Given the description of an element on the screen output the (x, y) to click on. 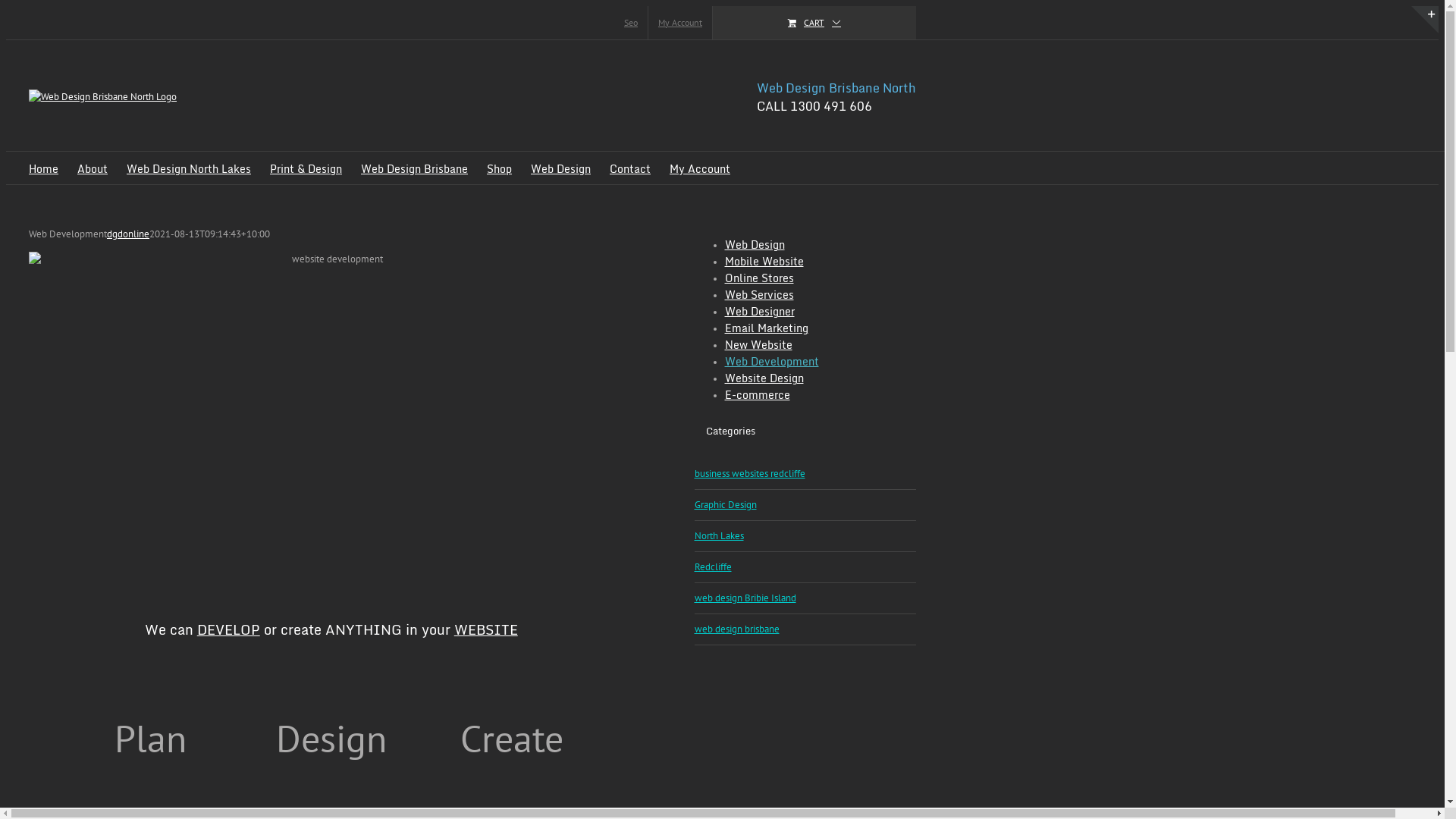
Log In Element type: text (819, 153)
business websites redcliffe Element type: text (805, 473)
Graphic Design Element type: text (805, 504)
Contact Element type: text (629, 167)
Redcliffe Element type: text (805, 567)
Web Development Element type: text (771, 361)
Home Element type: text (43, 167)
web design Bribie Island Element type: text (805, 598)
Web Services Element type: text (758, 294)
Toggle Sliding Bar Area Element type: text (1424, 19)
web design brisbane Element type: text (805, 629)
Print & Design Element type: text (305, 167)
E-commerce Element type: text (757, 394)
Web Design Brisbane Element type: text (413, 167)
Mobile Website Element type: text (763, 260)
WEBSITE Element type: text (485, 629)
My Account Element type: text (699, 167)
dgdonline Element type: text (127, 233)
Website Design Element type: text (763, 377)
About Element type: text (92, 167)
CART Element type: text (814, 22)
Web Design North Lakes Element type: text (188, 167)
My Account Element type: text (680, 22)
Email Marketing Element type: text (766, 327)
New Website Element type: text (758, 344)
North Lakes Element type: text (805, 536)
Web Design Element type: text (754, 244)
DEVELOP Element type: text (228, 629)
Web Designer Element type: text (759, 311)
Online Stores Element type: text (758, 277)
Shop Element type: text (498, 167)
Skip to content Element type: text (5, 5)
Web Design Element type: text (560, 167)
Seo Element type: text (630, 22)
